Given the description of an element on the screen output the (x, y) to click on. 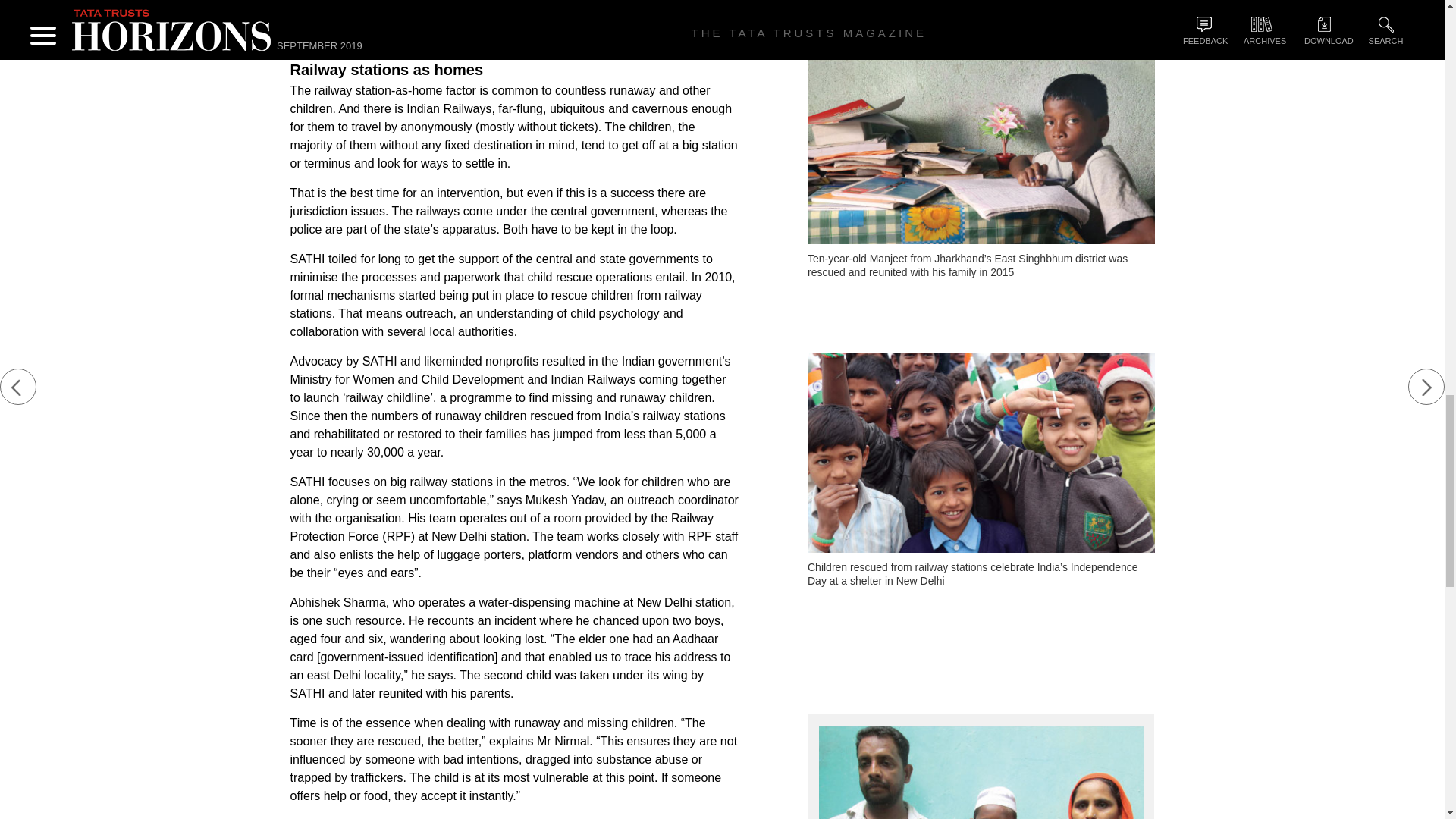
Shahrukh with father Ishrar and mother Sanawar (980, 772)
